Given the description of an element on the screen output the (x, y) to click on. 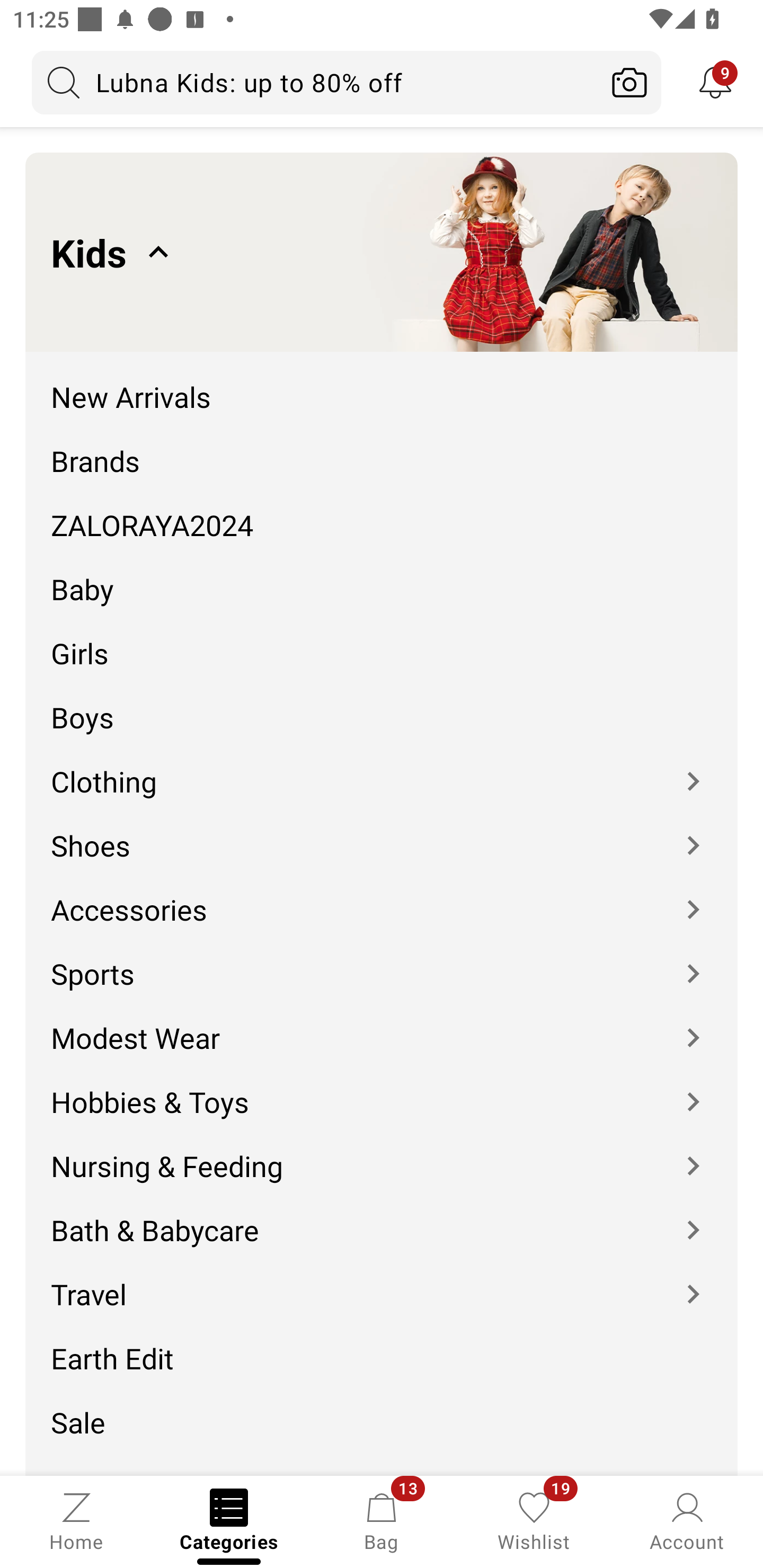
Lubna Kids: up to 80% off (314, 82)
Kids (381, 251)
New Arrivals (381, 383)
Brands (381, 447)
ZALORAYA2024 (381, 511)
Baby (381, 576)
Girls (381, 640)
Boys (381, 704)
Clothing (381, 767)
Shoes (381, 831)
Accessories (381, 895)
Sports (381, 960)
Modest Wear (381, 1024)
Hobbies & Toys (381, 1088)
Nursing & Feeding (381, 1153)
Bath & Babycare (381, 1217)
Travel (381, 1281)
Earth Edit (381, 1344)
Sale (381, 1408)
Home (76, 1519)
Bag, 13 new notifications Bag (381, 1519)
Wishlist, 19 new notifications Wishlist (533, 1519)
Account (686, 1519)
